Given the description of an element on the screen output the (x, y) to click on. 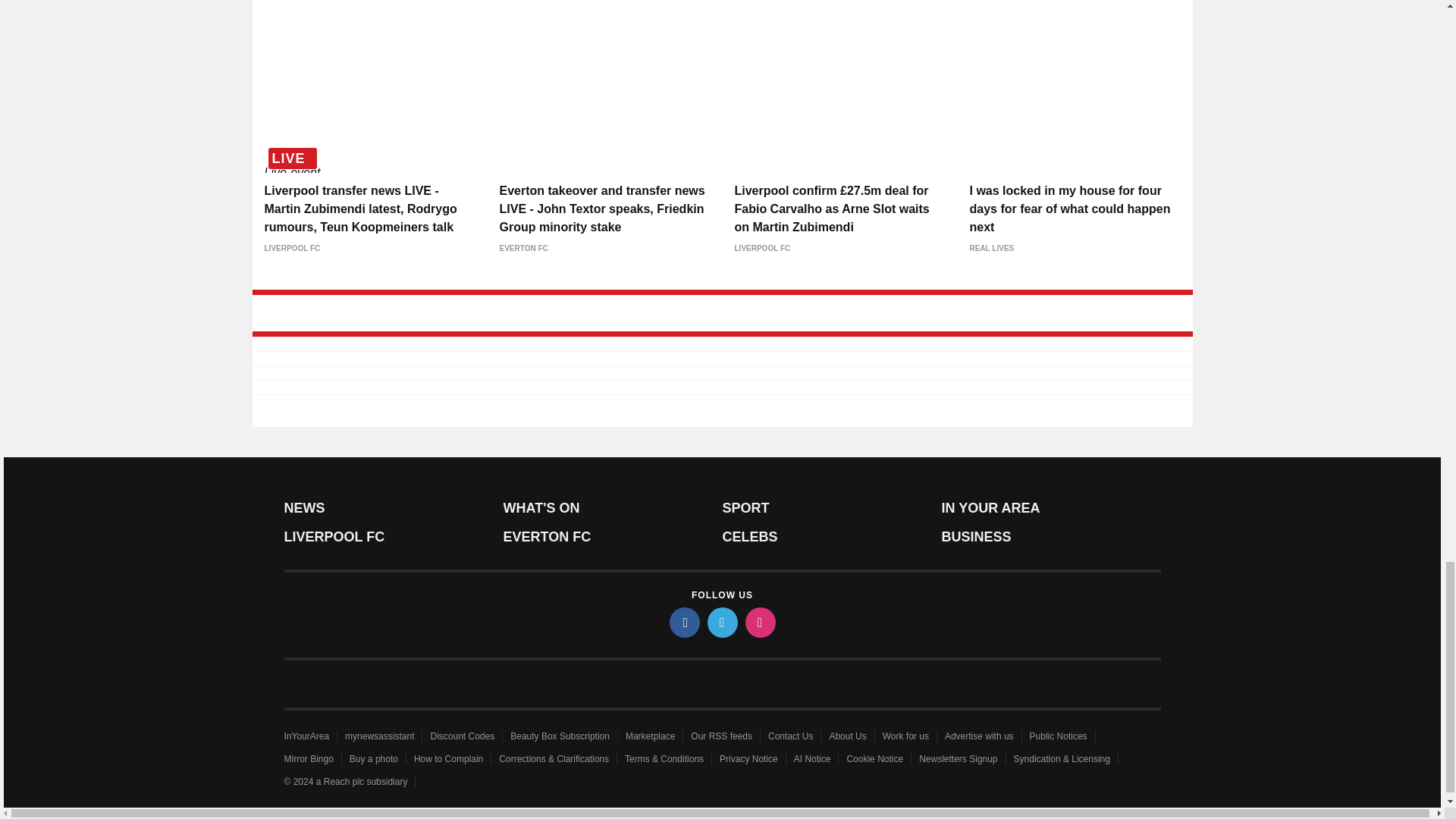
facebook (683, 622)
instagram (759, 622)
twitter (721, 622)
